Given the description of an element on the screen output the (x, y) to click on. 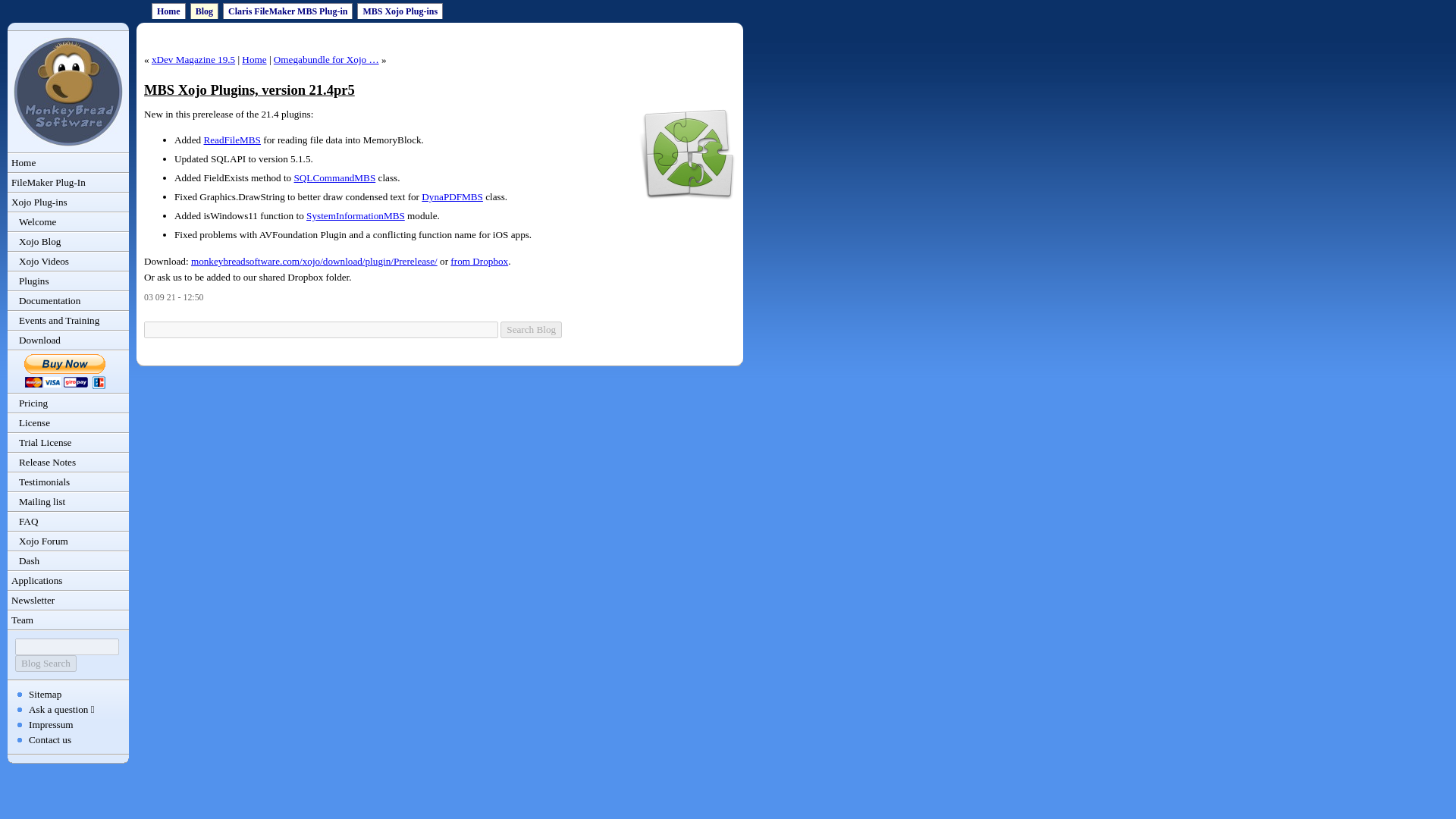
Download (68, 340)
SQLCommandMBS (334, 177)
Claris FileMaker MBS Plug-in (287, 10)
Search Blog (531, 329)
Documentation (68, 301)
Home (168, 10)
MBS Xojo Plugins, version 21.4pr5 (249, 89)
Trial License (68, 442)
FileMaker Plug-In (68, 182)
ReadFileMBS (231, 139)
